Given the description of an element on the screen output the (x, y) to click on. 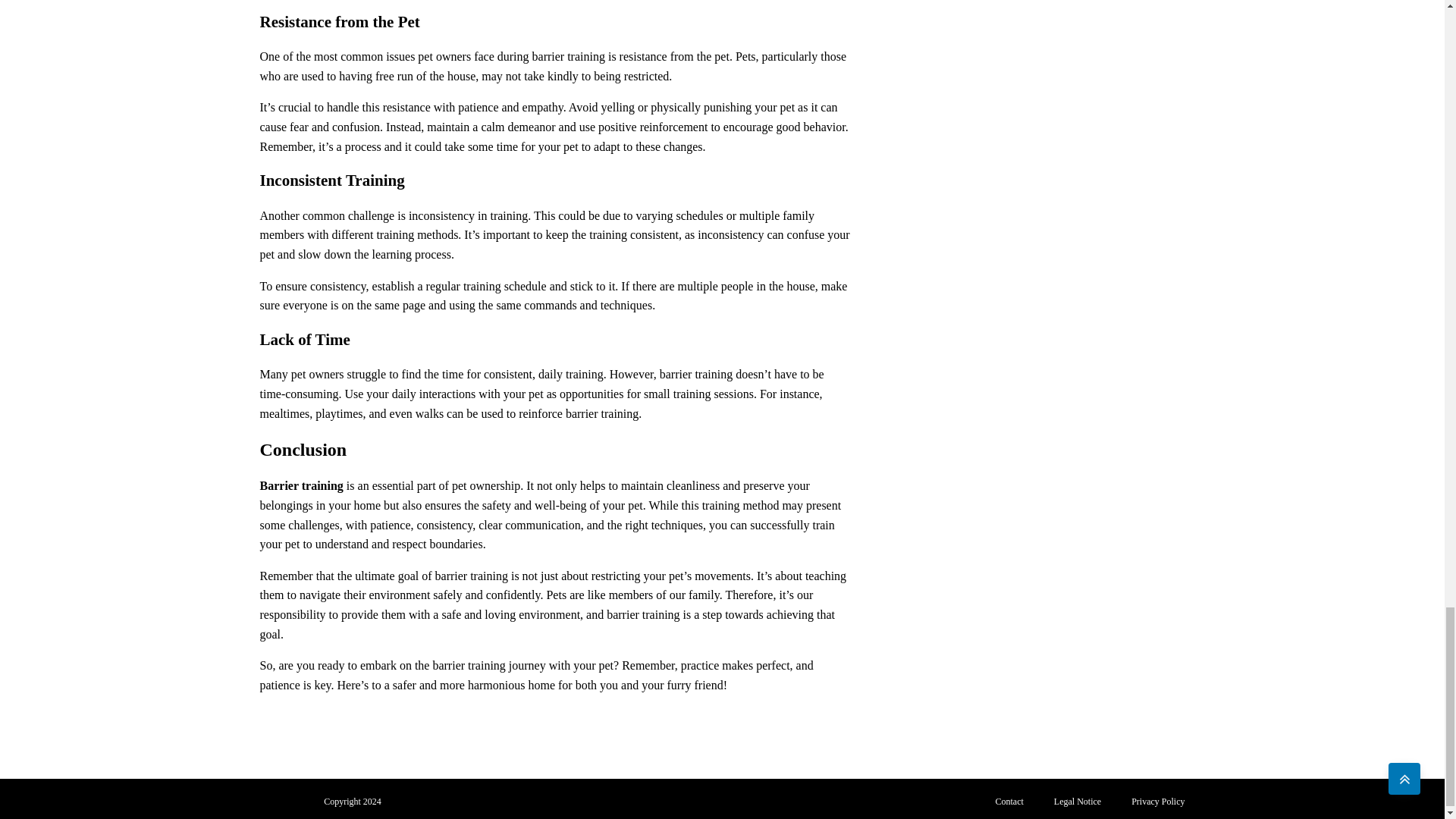
Contact (1009, 801)
Privacy Policy (1157, 801)
Legal Notice (1077, 801)
